Given the description of an element on the screen output the (x, y) to click on. 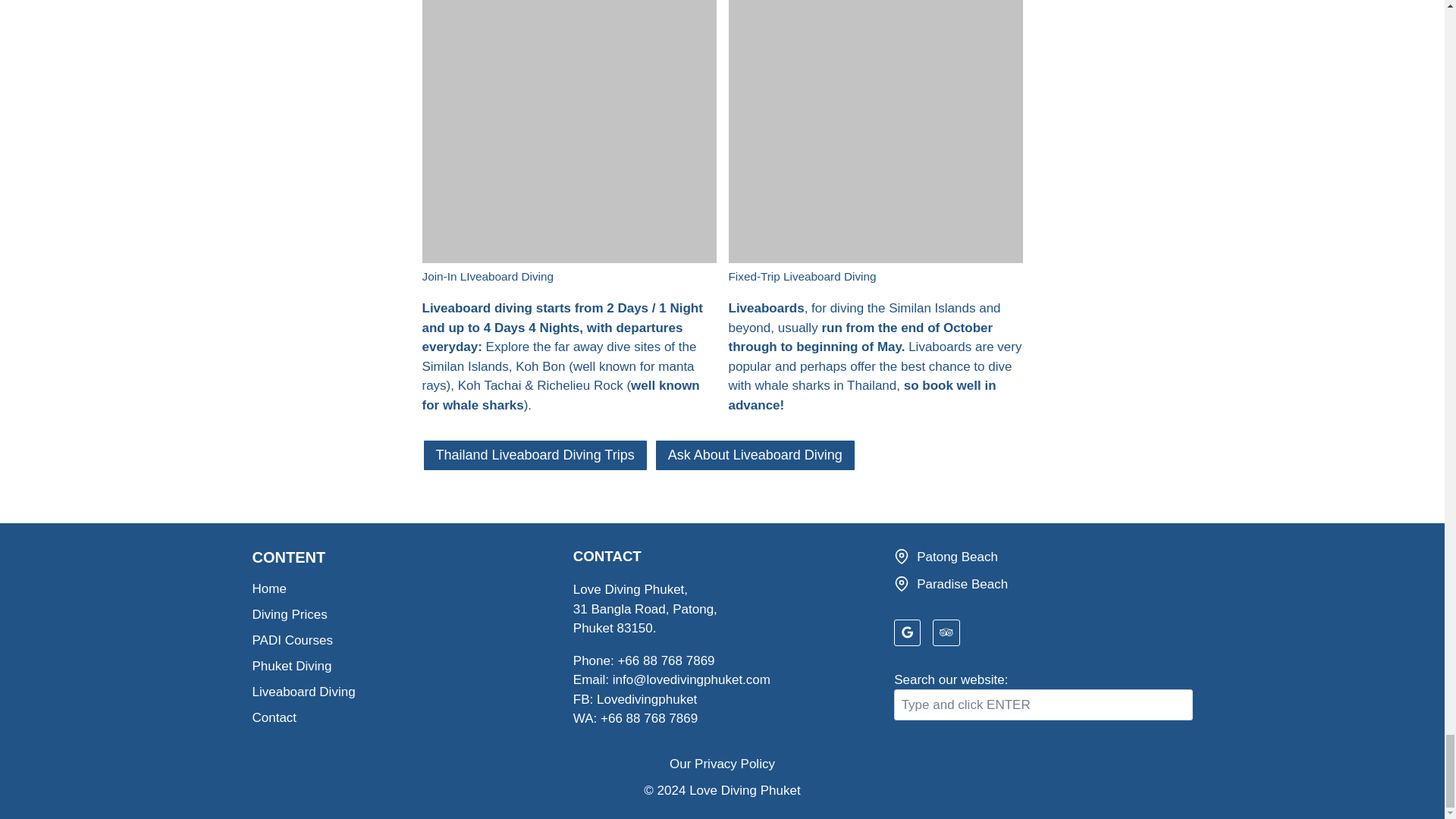
Dive With Whale Sharks In Thailand 7 (569, 131)
Phuket Diving (400, 666)
Thailand Liveaboard Diving Trips (534, 454)
Dive With Whale Sharks In Thailand 8 (875, 131)
PADI Courses (400, 640)
Ask About Liveaboard Diving (754, 454)
Contact (400, 718)
Diving Prices (400, 614)
Liveaboard Diving (400, 692)
Home (400, 588)
